Given the description of an element on the screen output the (x, y) to click on. 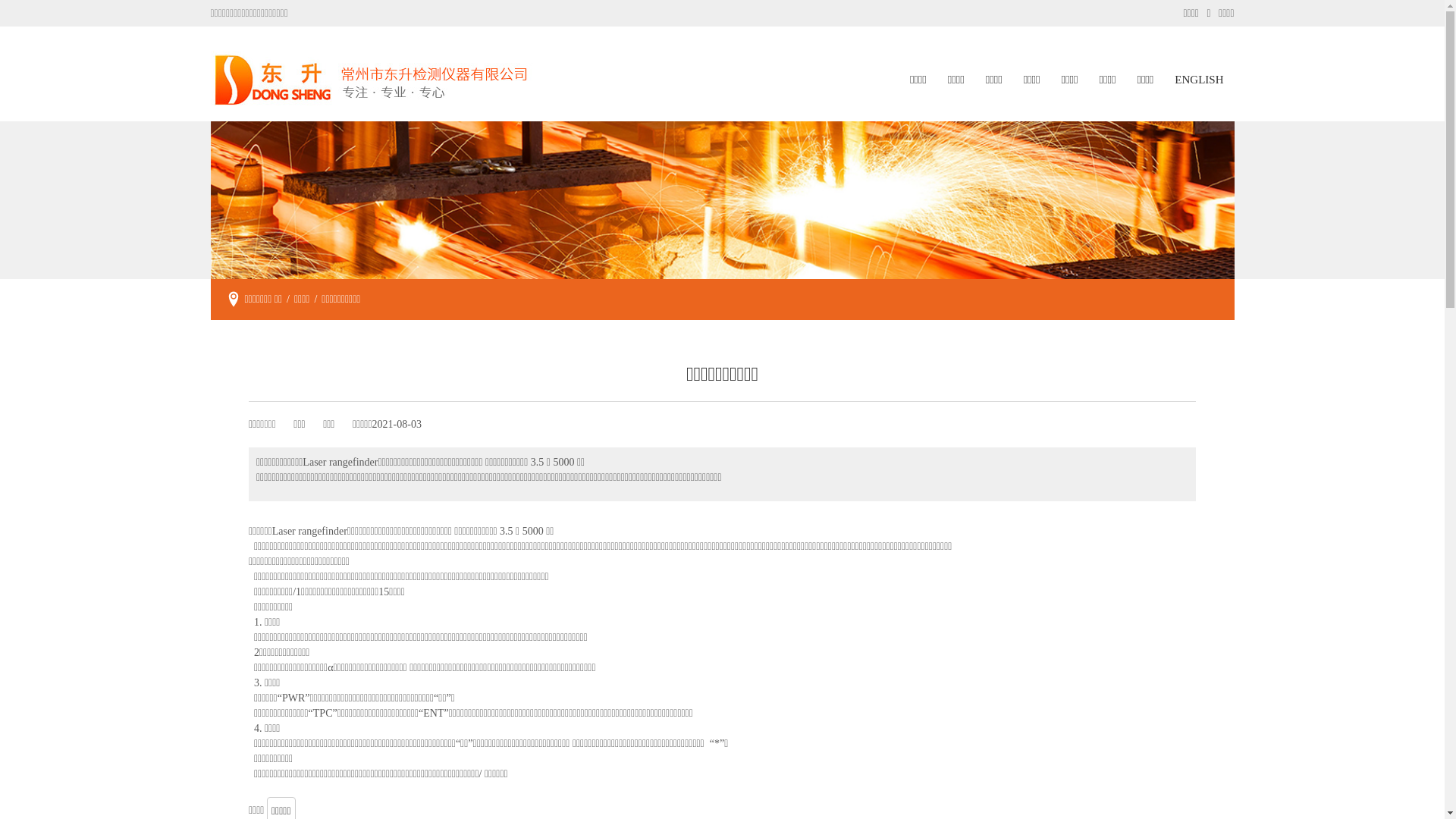
dongsheng Element type: hover (722, 199)
ENGLISH Element type: text (1198, 79)
logo Element type: hover (371, 79)
